Given the description of an element on the screen output the (x, y) to click on. 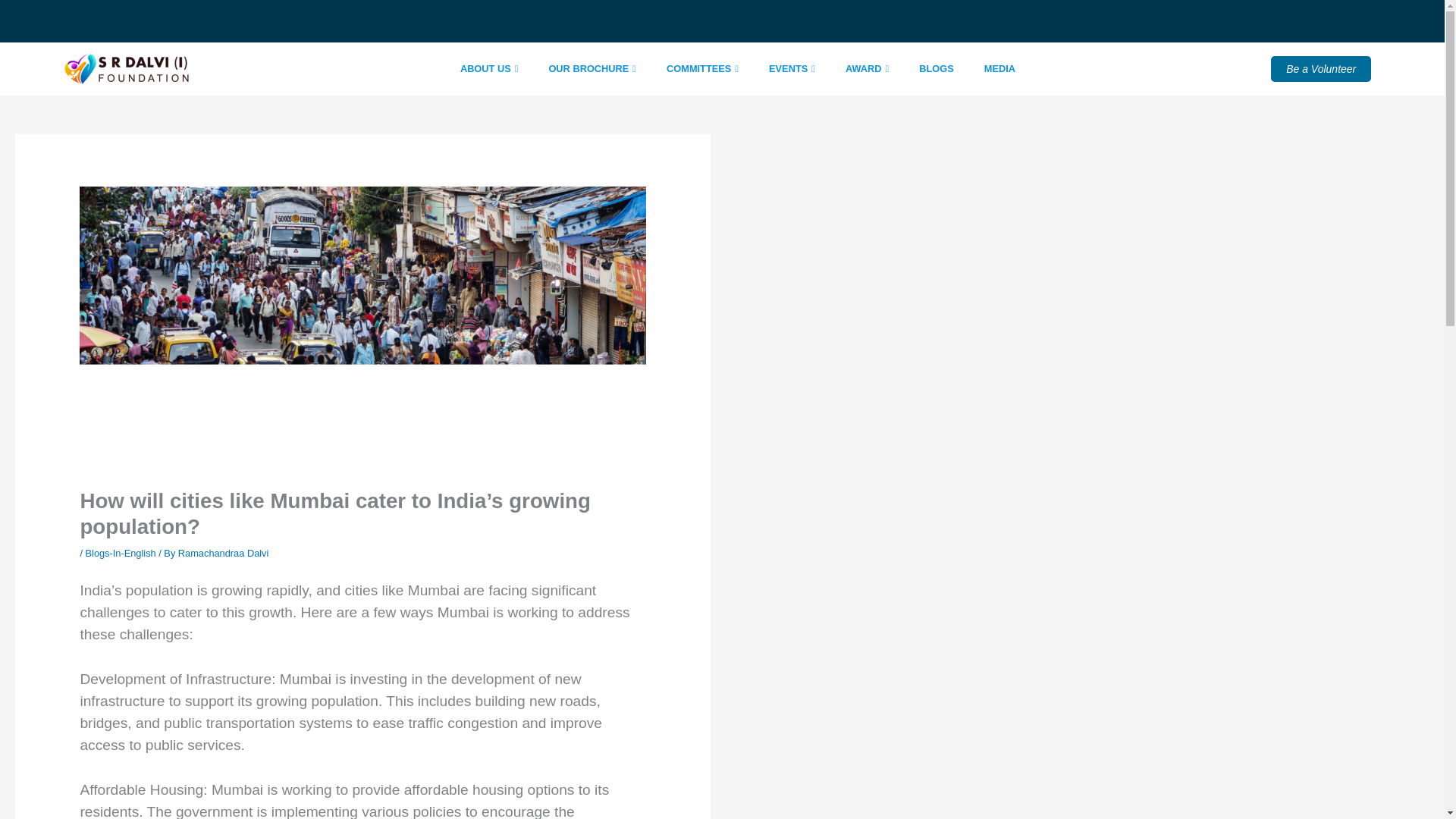
View all posts by Ramachandraa Dalvi (223, 552)
ABOUT US (489, 68)
COMMITTEES (702, 68)
OUR BROCHURE (591, 68)
EVENTS (791, 68)
AWARD (866, 68)
